Given the description of an element on the screen output the (x, y) to click on. 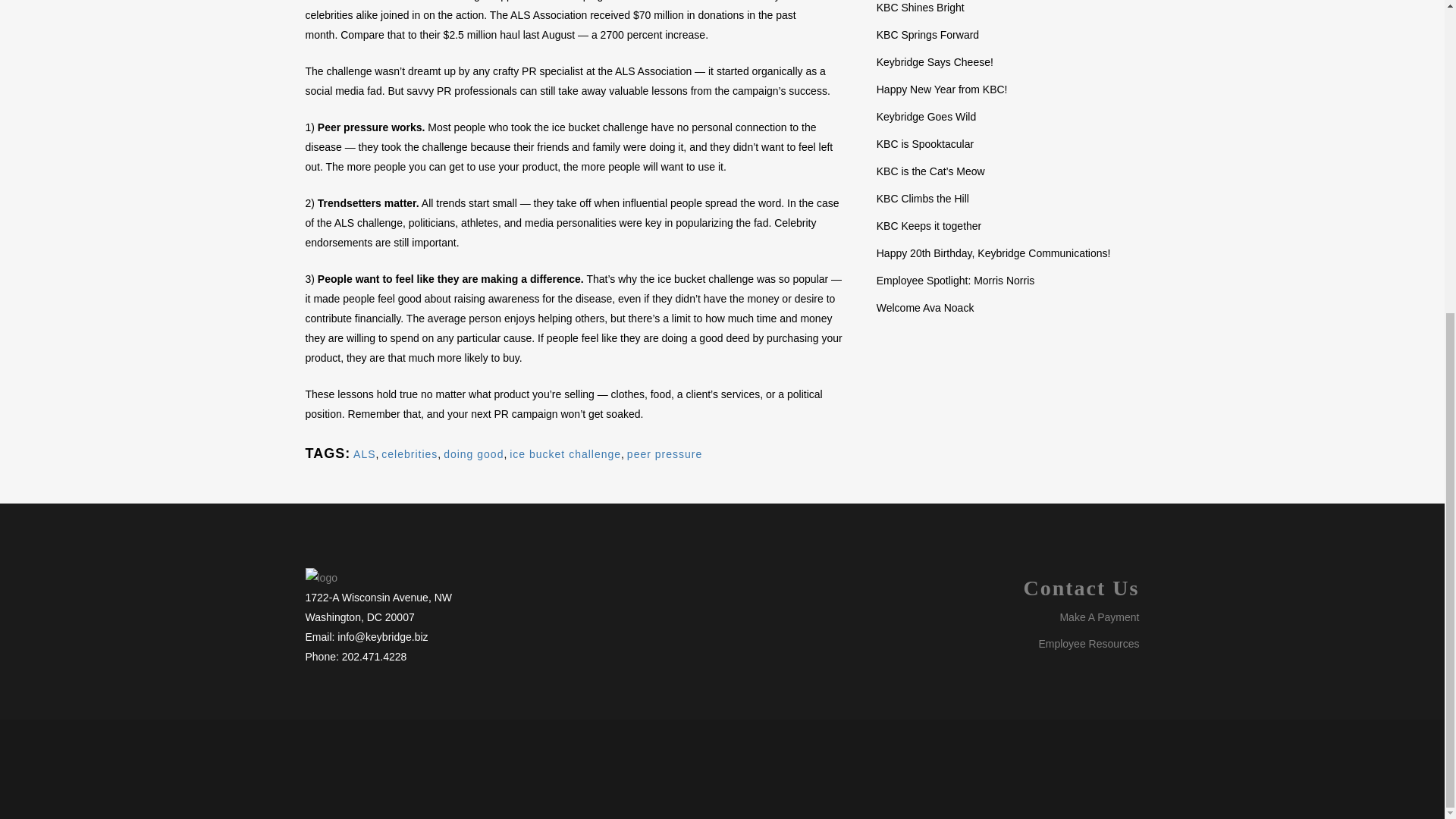
Keybridge Says Cheese! (934, 61)
KBC Climbs the Hill (922, 198)
KBC is Spooktacular (925, 143)
ice bucket challenge (565, 453)
doing good (473, 453)
celebrities (409, 453)
ALS (364, 453)
Happy New Year from KBC! (941, 89)
KBC Shines Bright (919, 7)
Keybridge Goes Wild (926, 116)
peer pressure (664, 453)
KBC Springs Forward (927, 34)
